Given the description of an element on the screen output the (x, y) to click on. 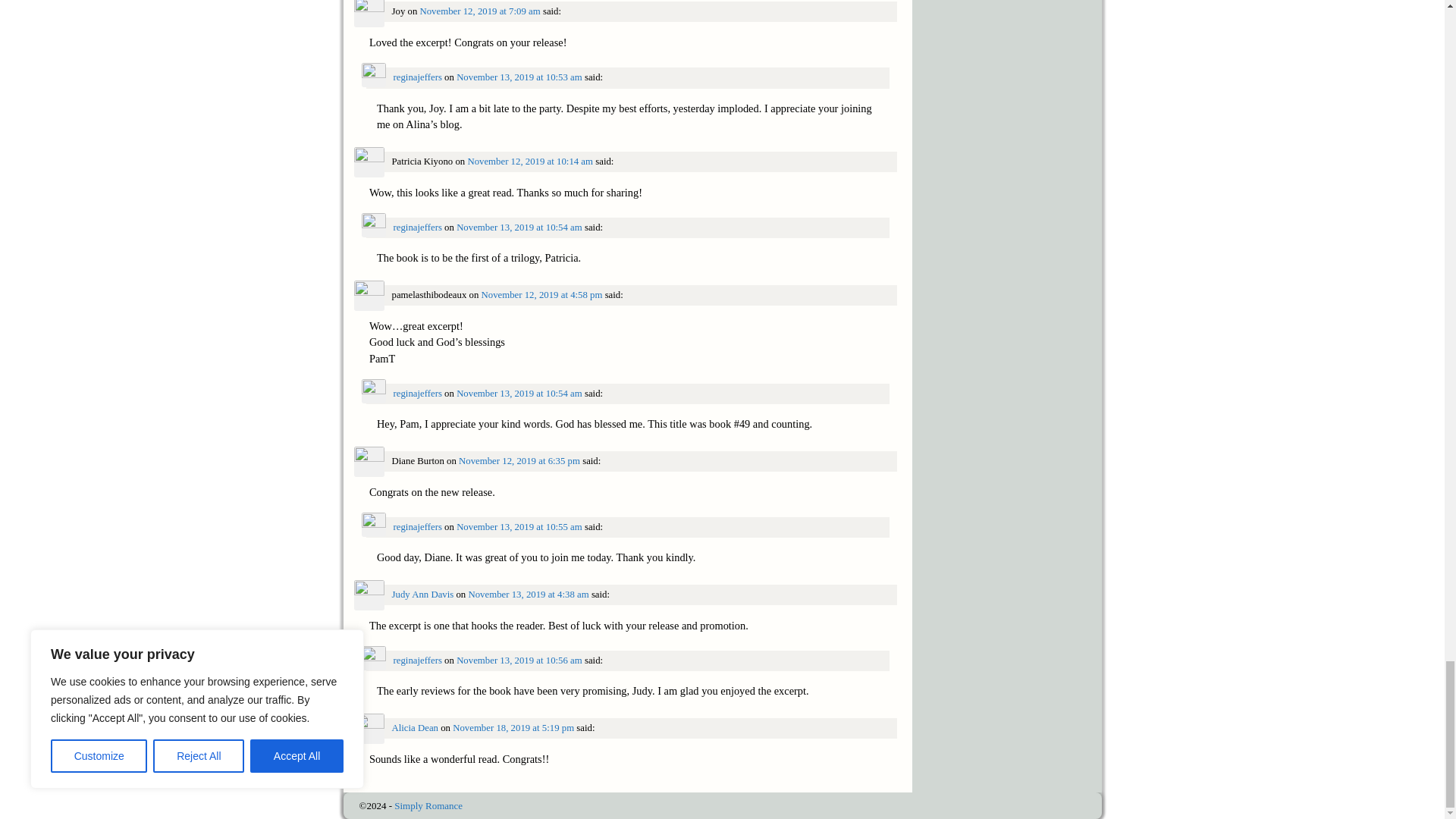
Simply Romance (428, 805)
